Given the description of an element on the screen output the (x, y) to click on. 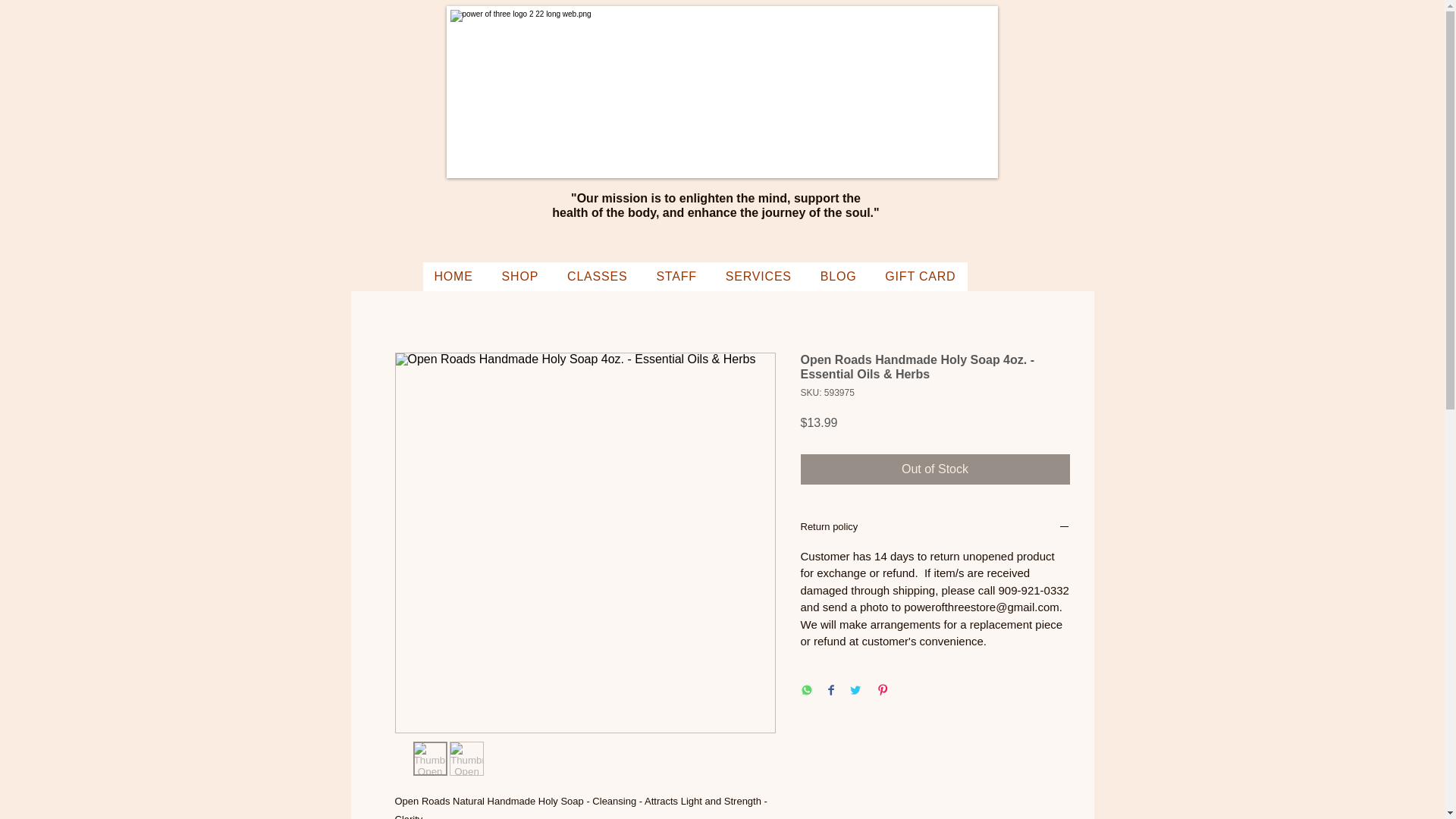
GIFT CARD (919, 276)
BLOG (838, 276)
SHOP (520, 276)
HOME (453, 276)
Return policy (935, 527)
SERVICES (758, 276)
CLASSES (597, 276)
Out of Stock (935, 469)
STAFF (676, 276)
